Given the description of an element on the screen output the (x, y) to click on. 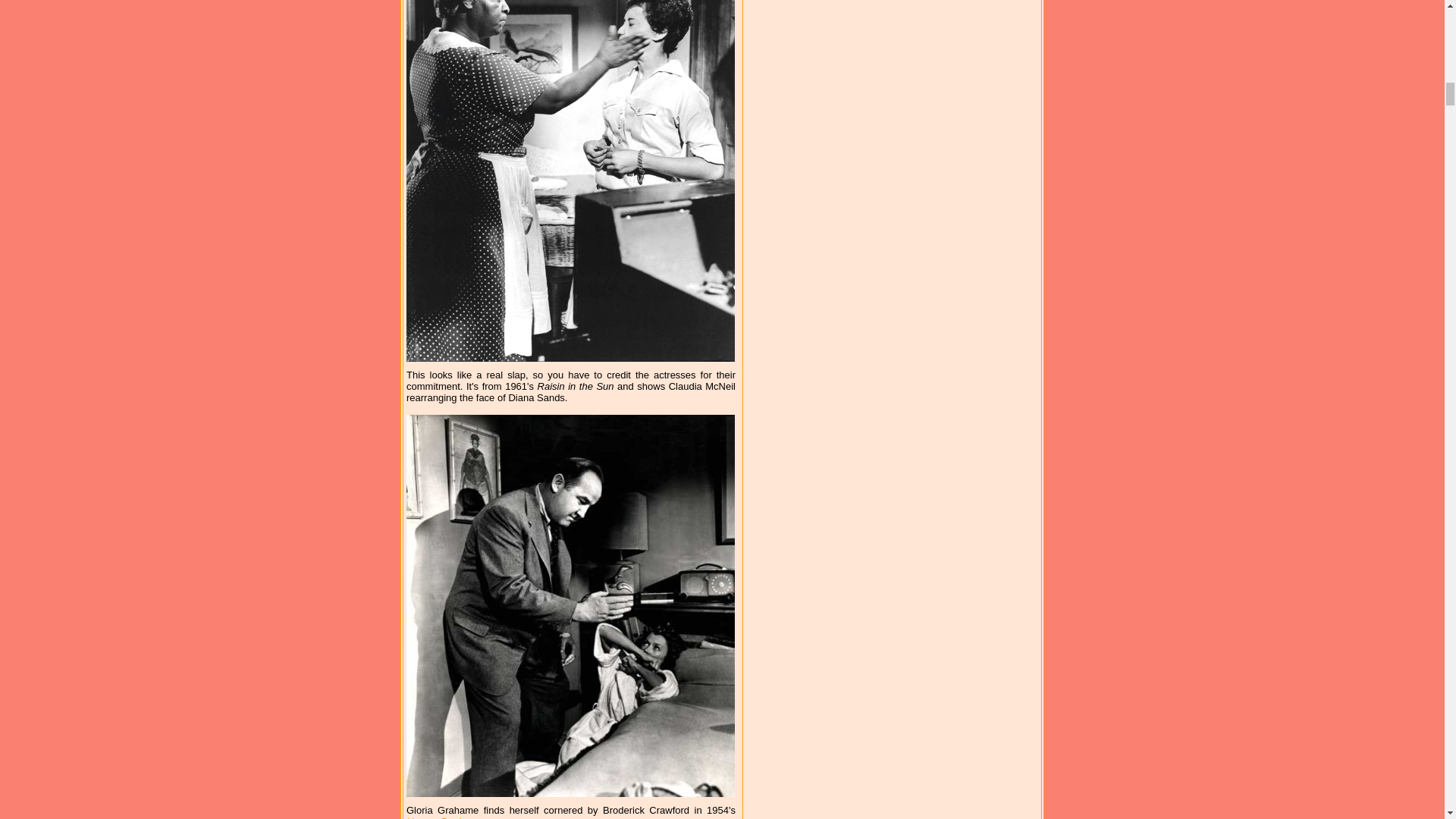
Human Desire (437, 817)
